Given the description of an element on the screen output the (x, y) to click on. 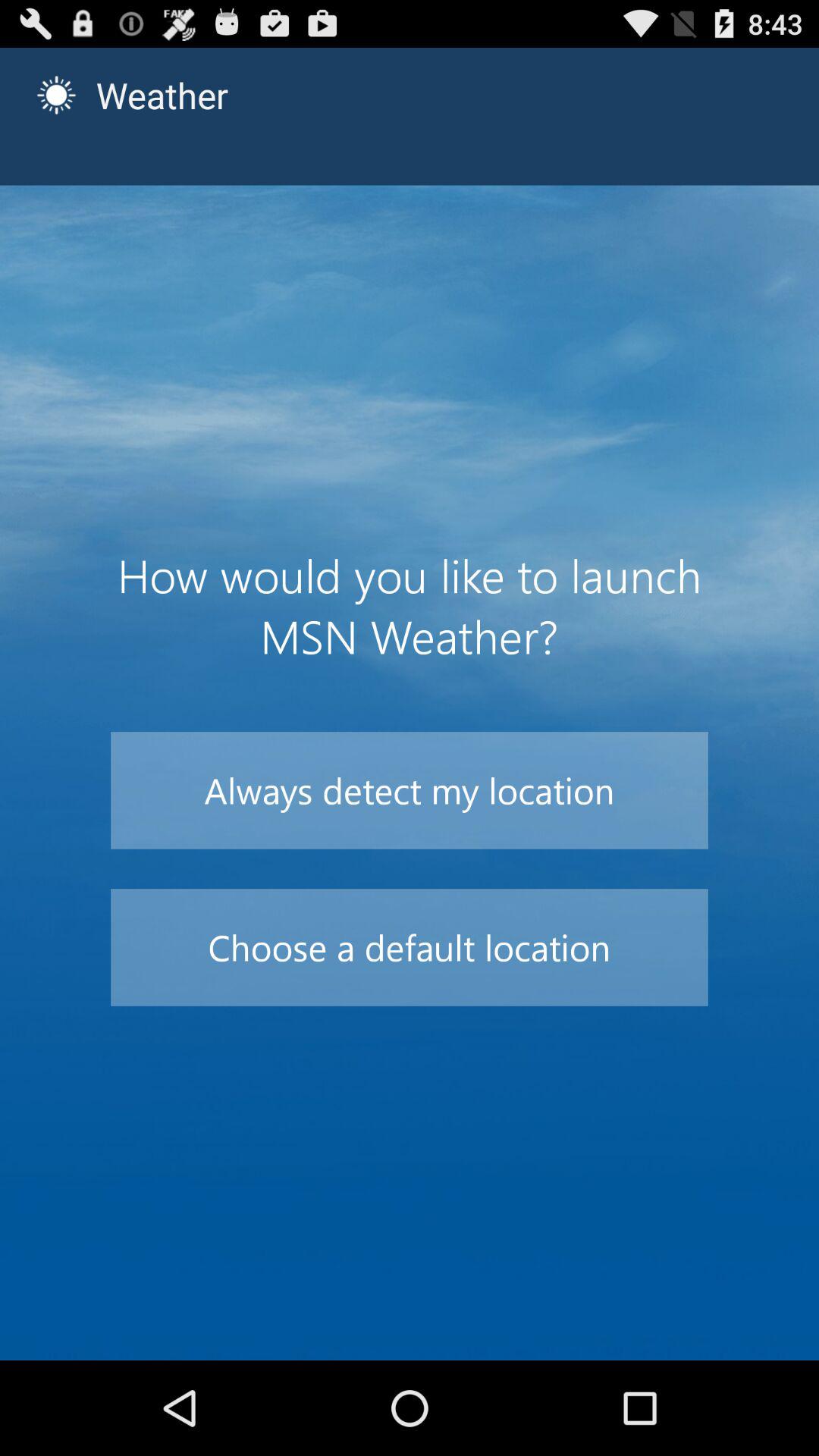
open the icon below always detect my icon (409, 947)
